Given the description of an element on the screen output the (x, y) to click on. 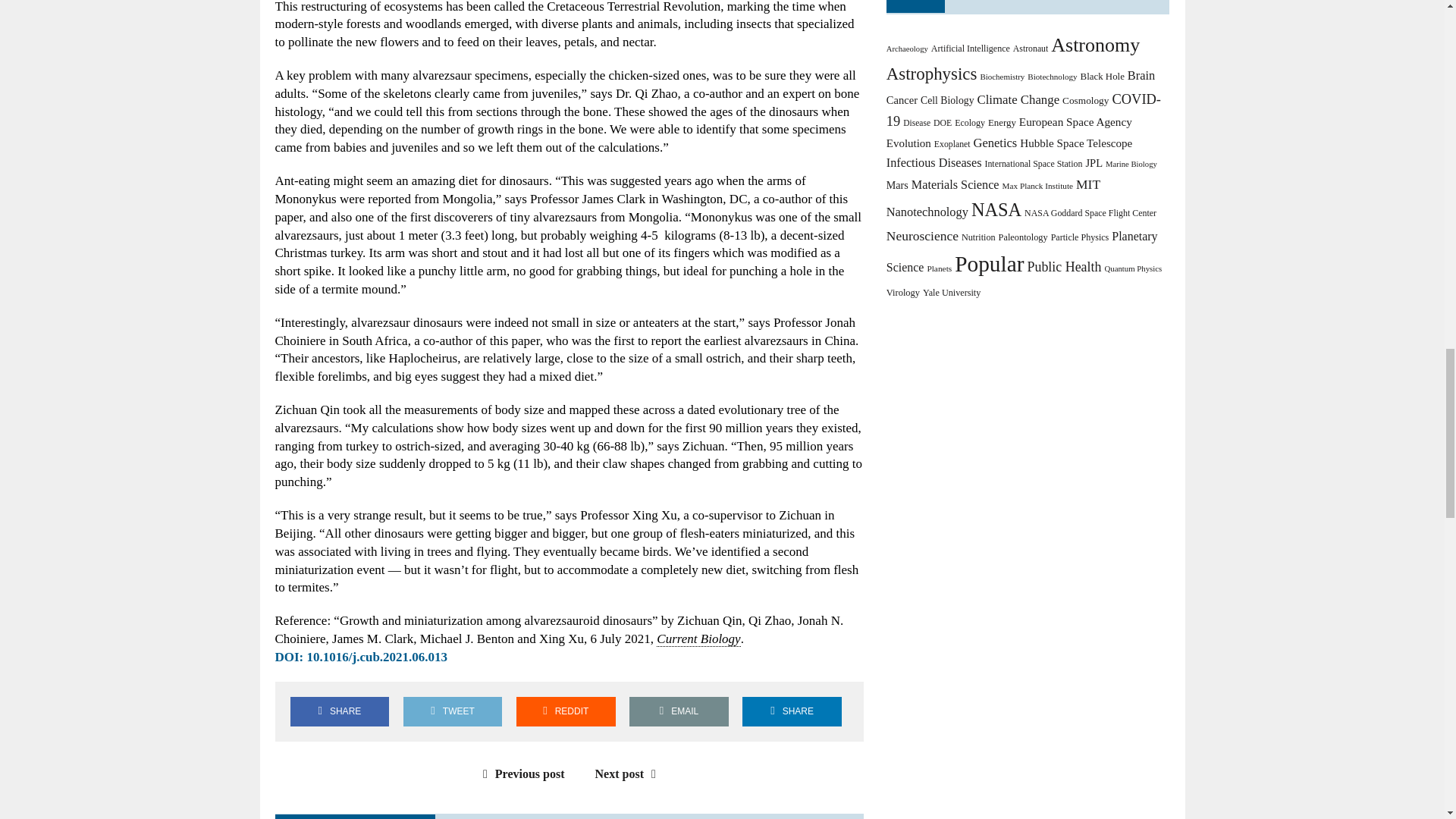
Share on Facebook (338, 711)
